Given the description of an element on the screen output the (x, y) to click on. 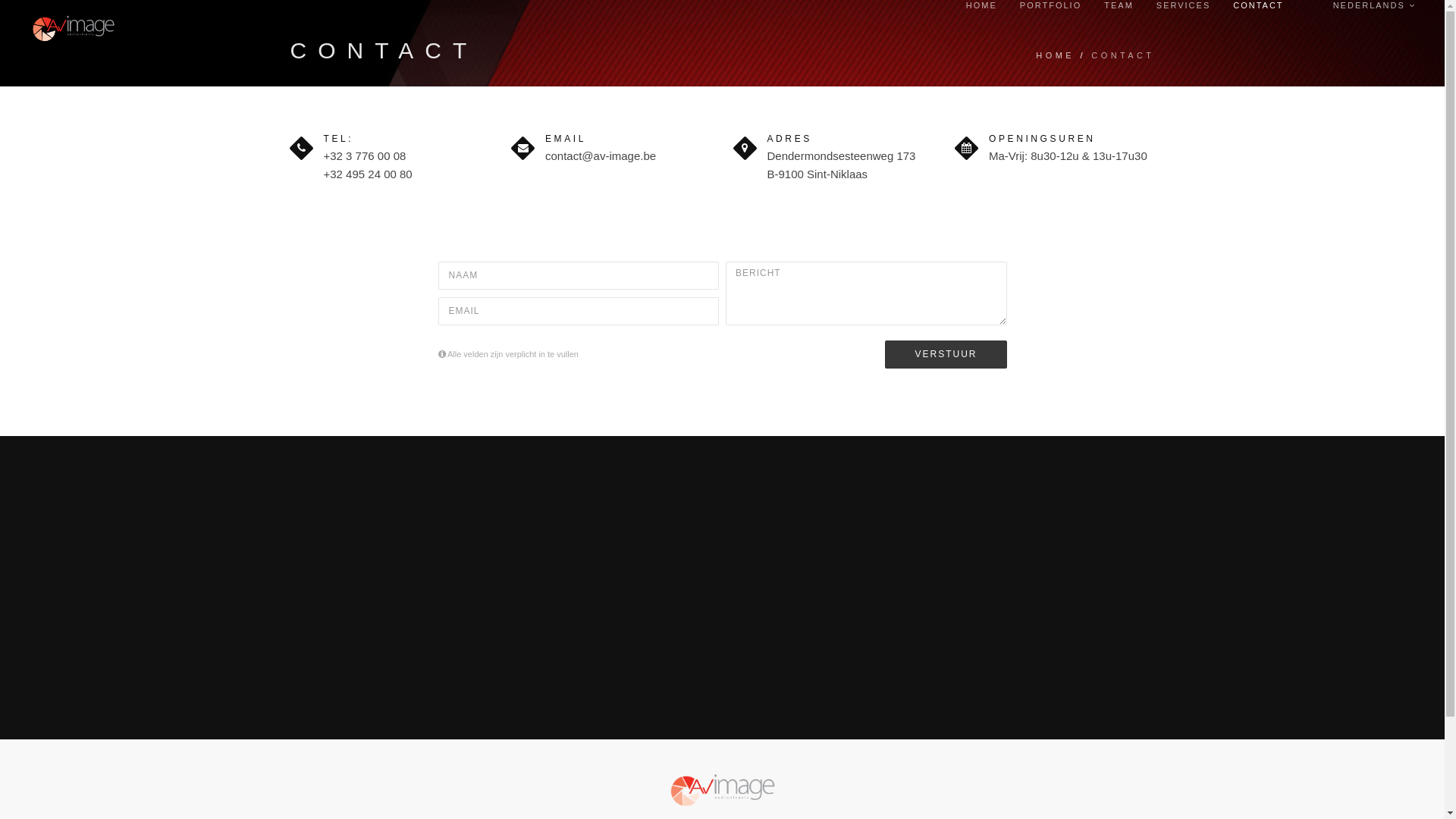
HOME Element type: text (981, 5)
VERSTUUR Element type: text (945, 354)
TEAM Element type: text (1118, 5)
contact@av-image.be Element type: text (600, 155)
  Element type: text (1308, 5)
CONTACT Element type: text (1258, 5)
NEDERLANDS Element type: text (1374, 5)
HOME Element type: text (1054, 56)
PORTFOLIO Element type: text (1050, 5)
SERVICES Element type: text (1183, 5)
